Given the description of an element on the screen output the (x, y) to click on. 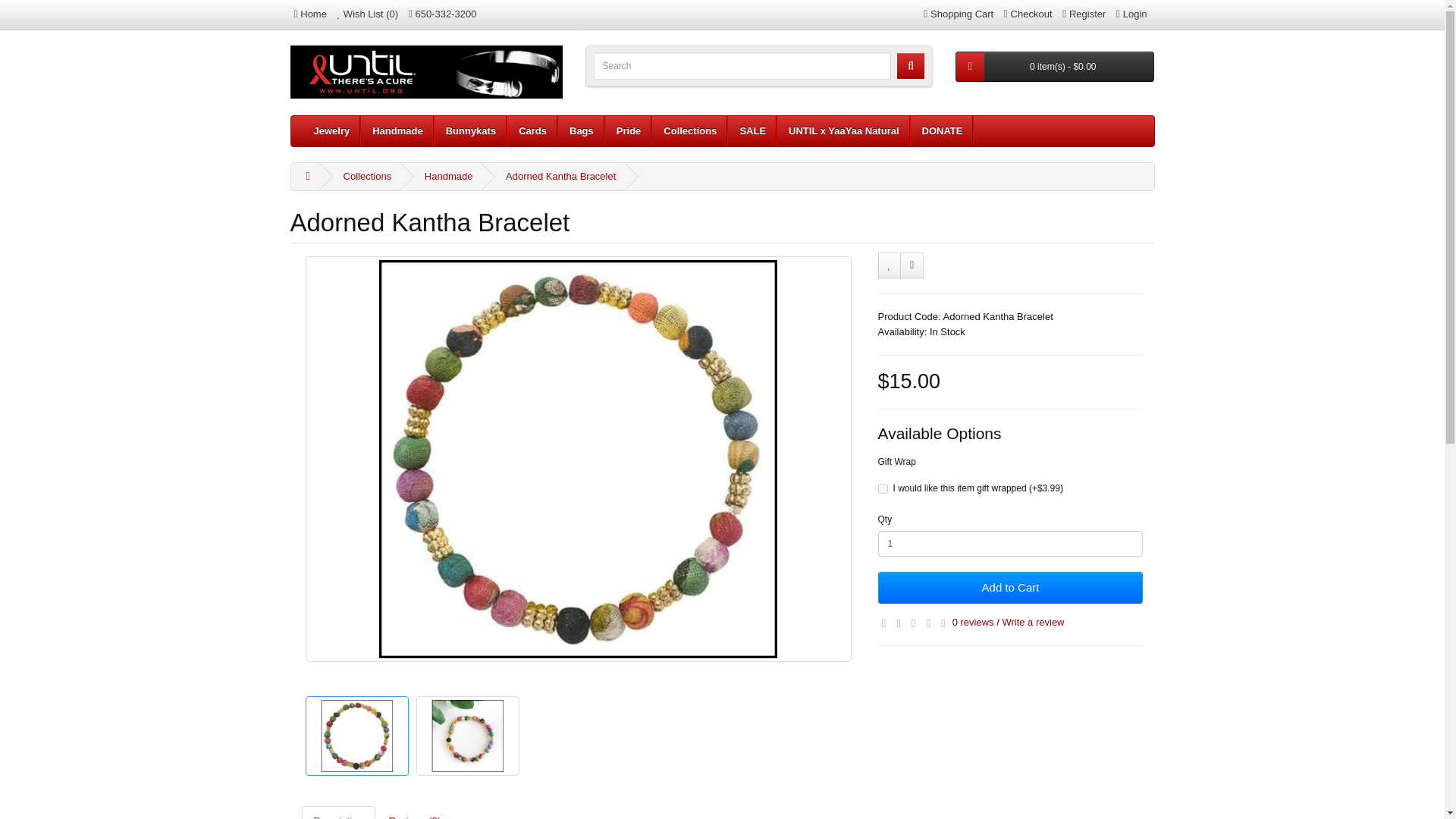
Adorned Kantha Bracelet (466, 735)
Adorned Kantha Bracelet (356, 736)
Adorned Kantha Bracelet (355, 735)
Until There's A Cure (425, 71)
1643 (882, 488)
1 (1009, 543)
Adorned Kantha Bracelet (467, 736)
Shopping Cart (957, 13)
Checkout (1028, 13)
